Given the description of an element on the screen output the (x, y) to click on. 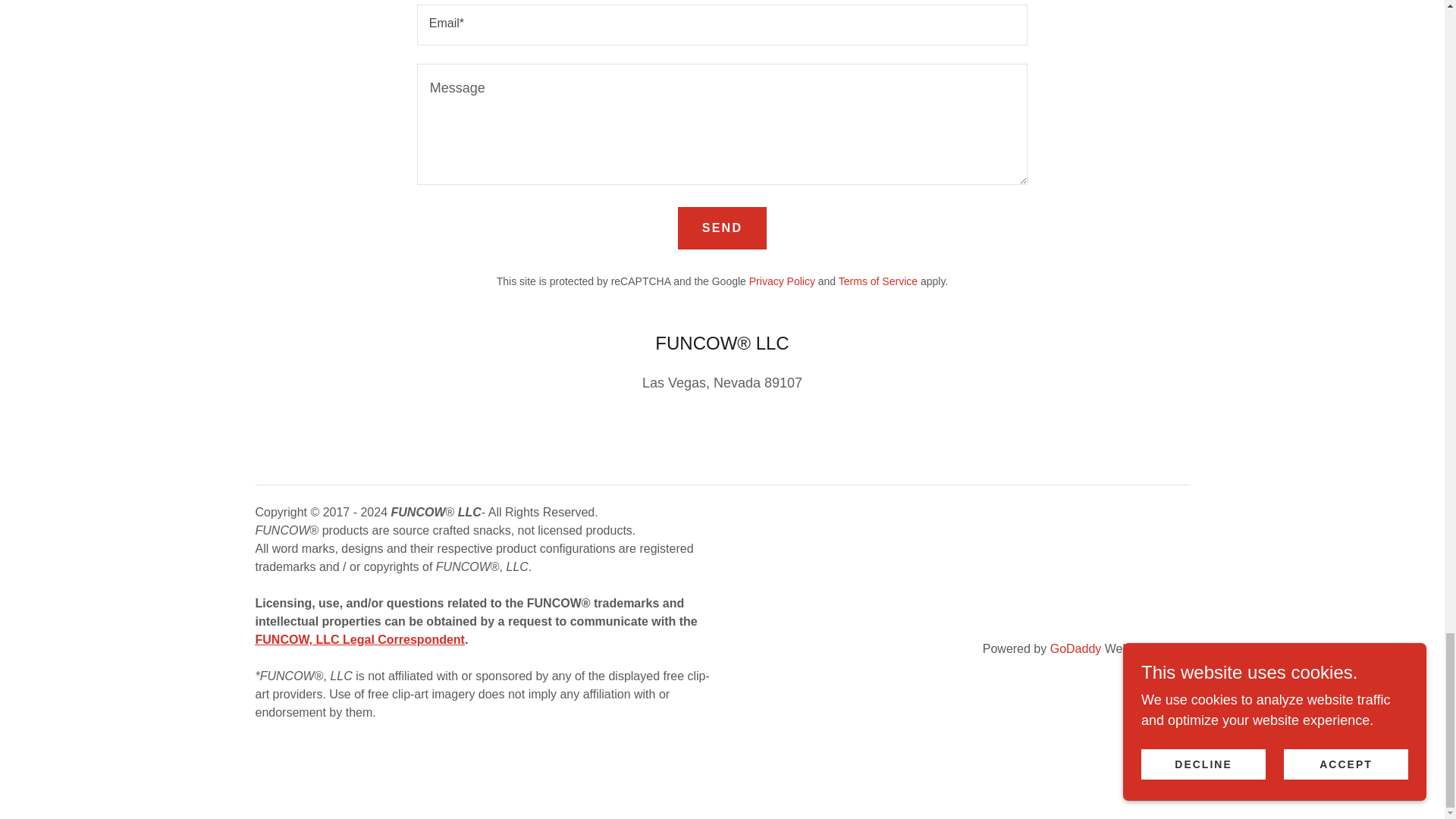
Privacy Policy (782, 281)
Terms of Service (877, 281)
FUNCOW, LLC Legal Correspondent (359, 639)
SEND (722, 228)
